Given the description of an element on the screen output the (x, y) to click on. 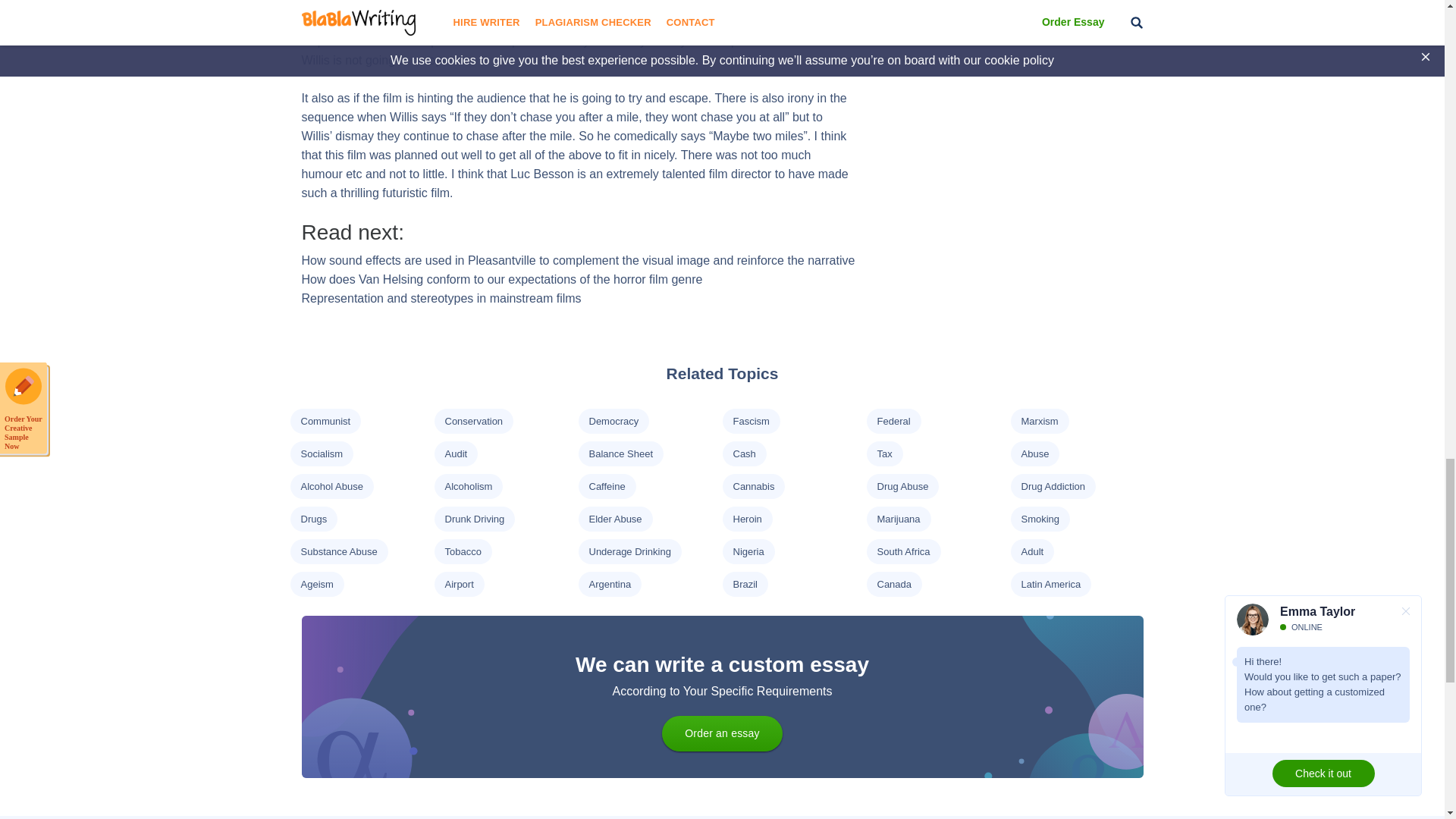
Drug Abuse (902, 486)
Cash (743, 453)
Conservation (473, 420)
Socialism (320, 453)
Marxism (1039, 420)
Alcohol Abuse (330, 486)
Drugs (312, 518)
Balance Sheet (620, 453)
Federal (893, 420)
Caffeine (606, 486)
Fascism (750, 420)
Tax (883, 453)
Alcoholism (468, 486)
Drug Addiction (1052, 486)
Cannabis (753, 486)
